Given the description of an element on the screen output the (x, y) to click on. 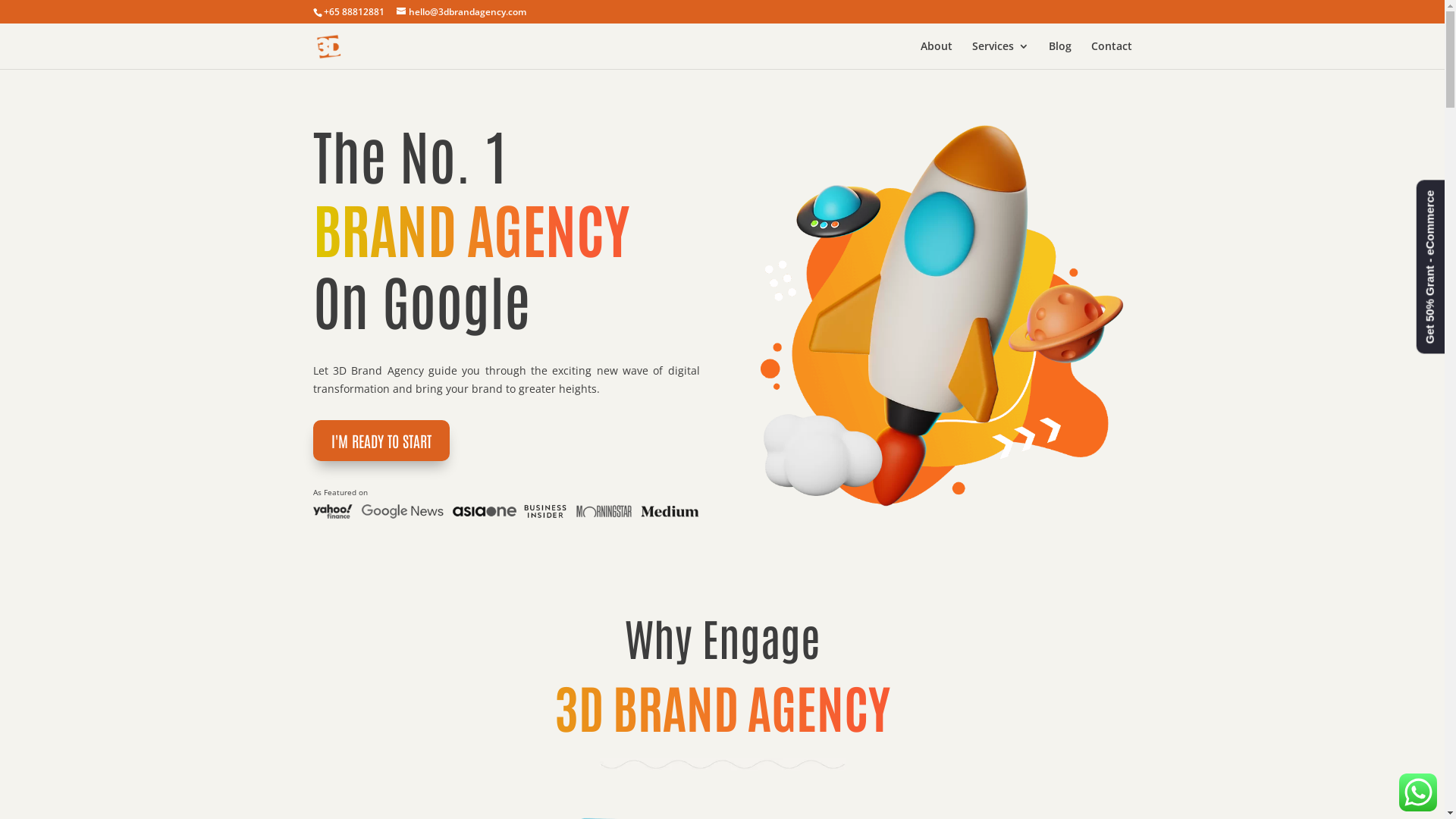
I'M READY TO START Element type: text (380, 440)
Blog Element type: text (1059, 54)
3D Brand Agency As Featured on the News Element type: hover (505, 511)
About Element type: text (936, 54)
Contact Element type: text (1110, 54)
hello@3dbrandagency.com Element type: text (460, 11)
Divider 3D Brand Agency Element type: hover (721, 764)
Services Element type: text (1000, 54)
